Given the description of an element on the screen output the (x, y) to click on. 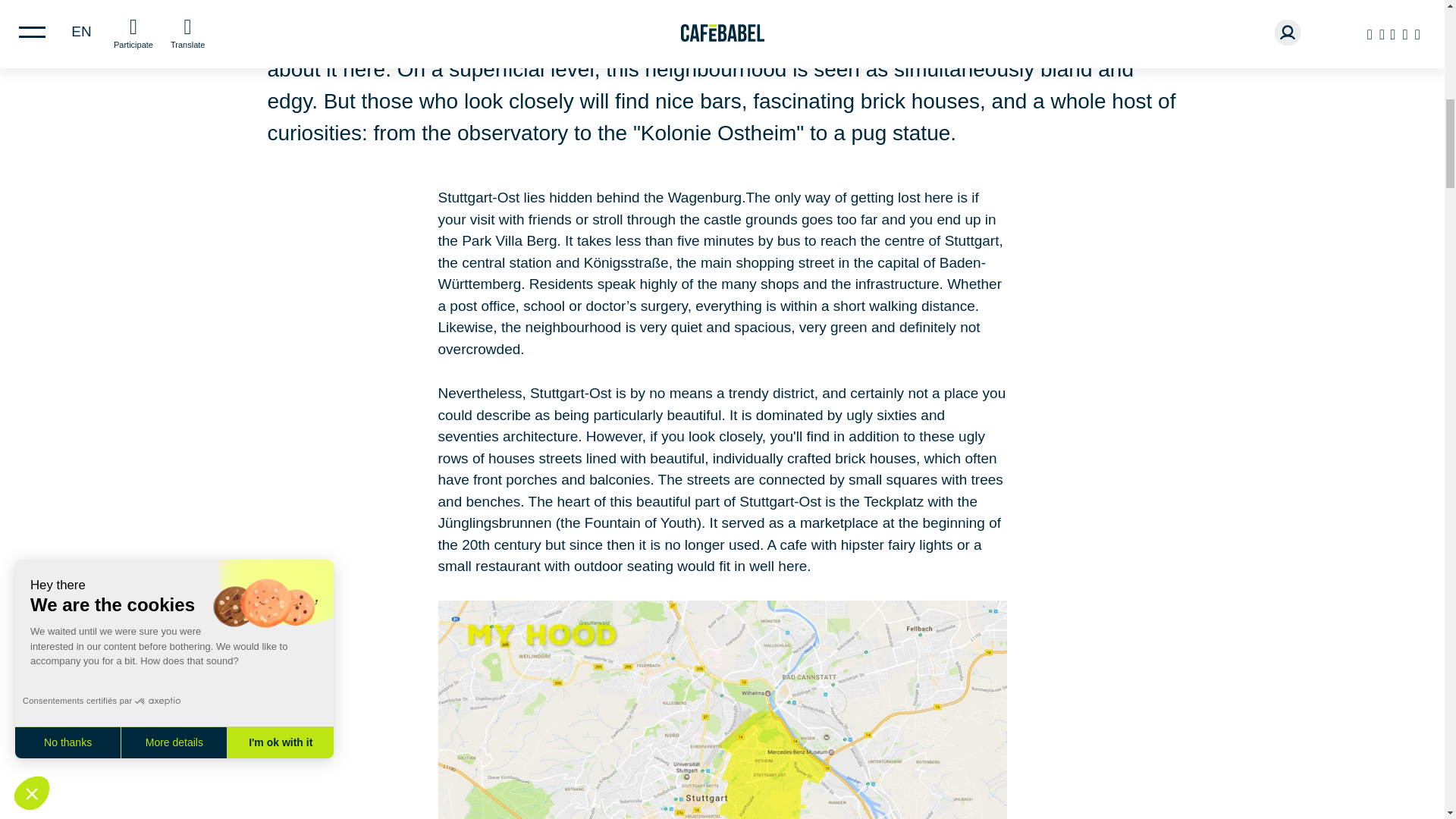
Stuttgart-Ost (722, 709)
